Given the description of an element on the screen output the (x, y) to click on. 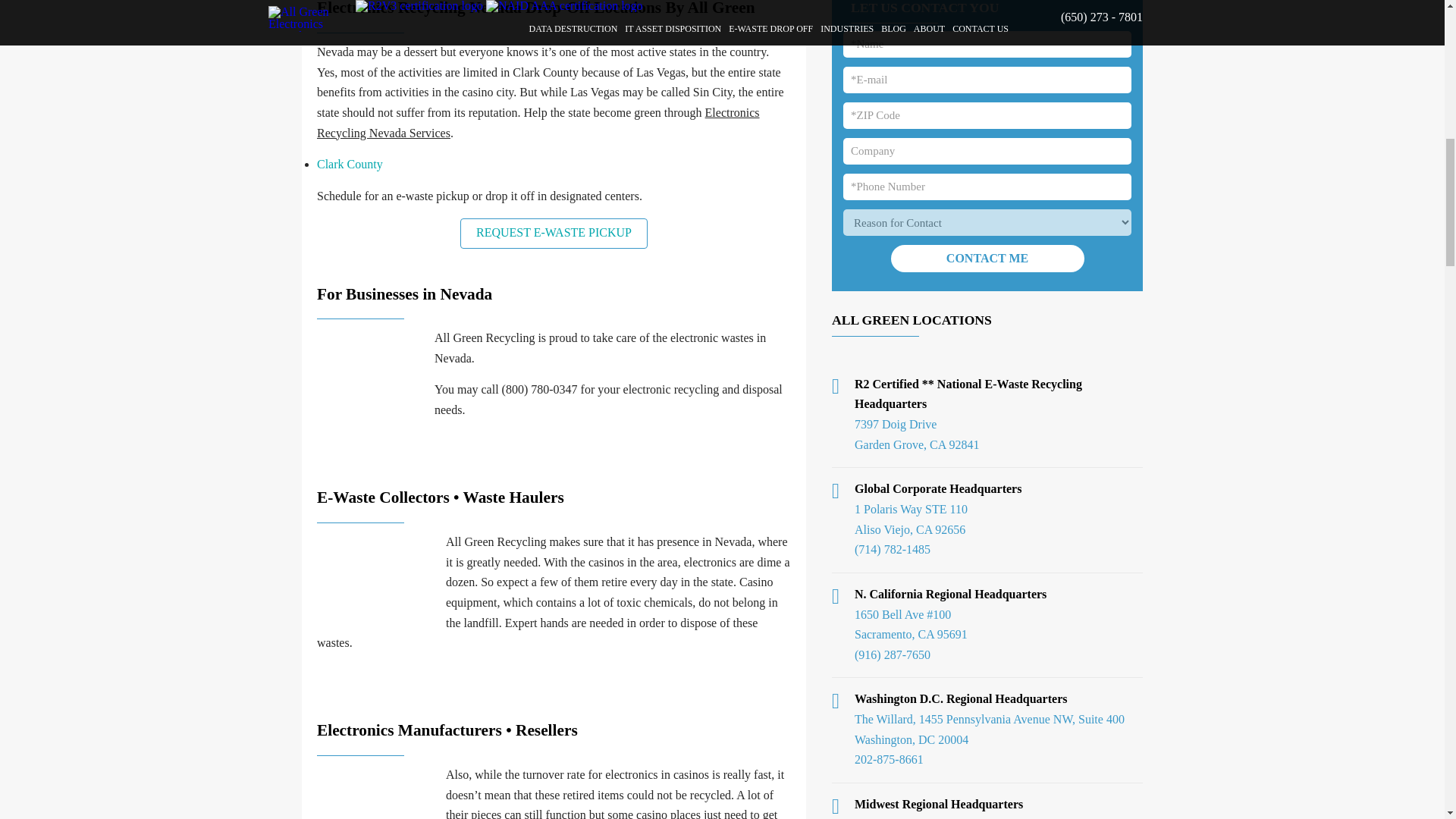
Nevada electronic waste recycling 2 (377, 578)
Nevada electronic waste recycling 1 (375, 365)
REQUEST E-WASTE PICKUP (553, 233)
Clark County (349, 164)
Contact Me (986, 257)
Nevada electronic waste recycling 3 (377, 792)
Contact Me (986, 257)
